Given the description of an element on the screen output the (x, y) to click on. 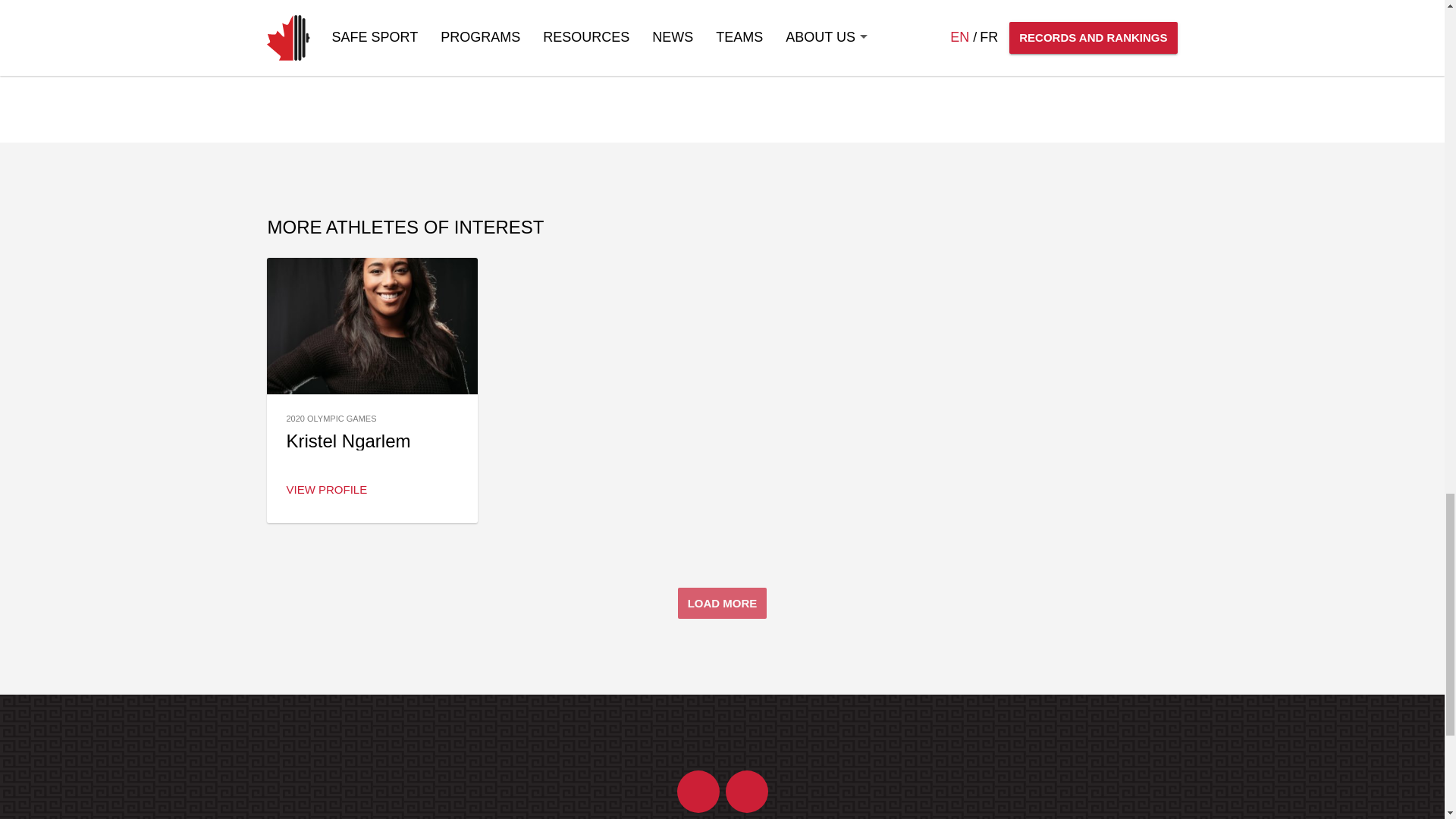
Kristel Ngarlem (347, 440)
VIEW PROFILE (325, 489)
LOAD MORE (722, 603)
